Given the description of an element on the screen output the (x, y) to click on. 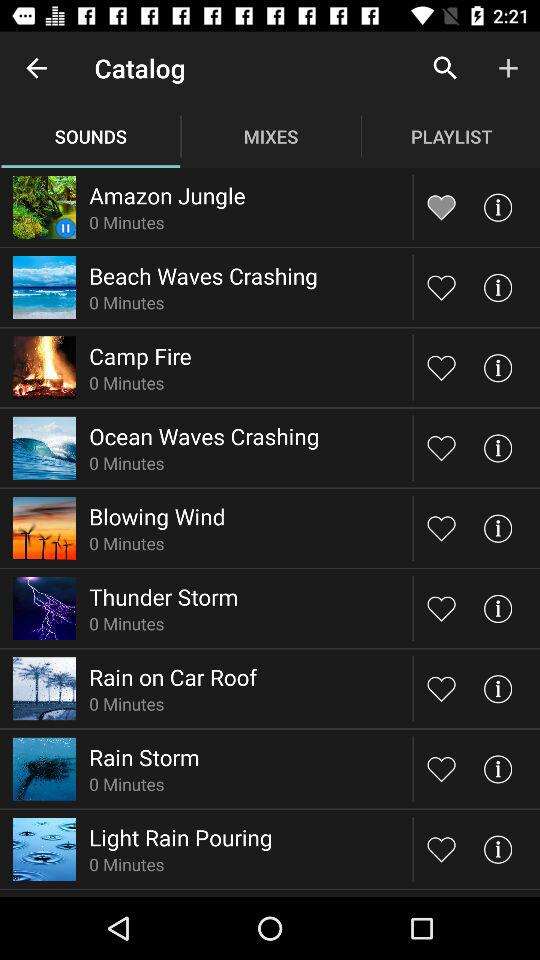
more information (498, 287)
